Given the description of an element on the screen output the (x, y) to click on. 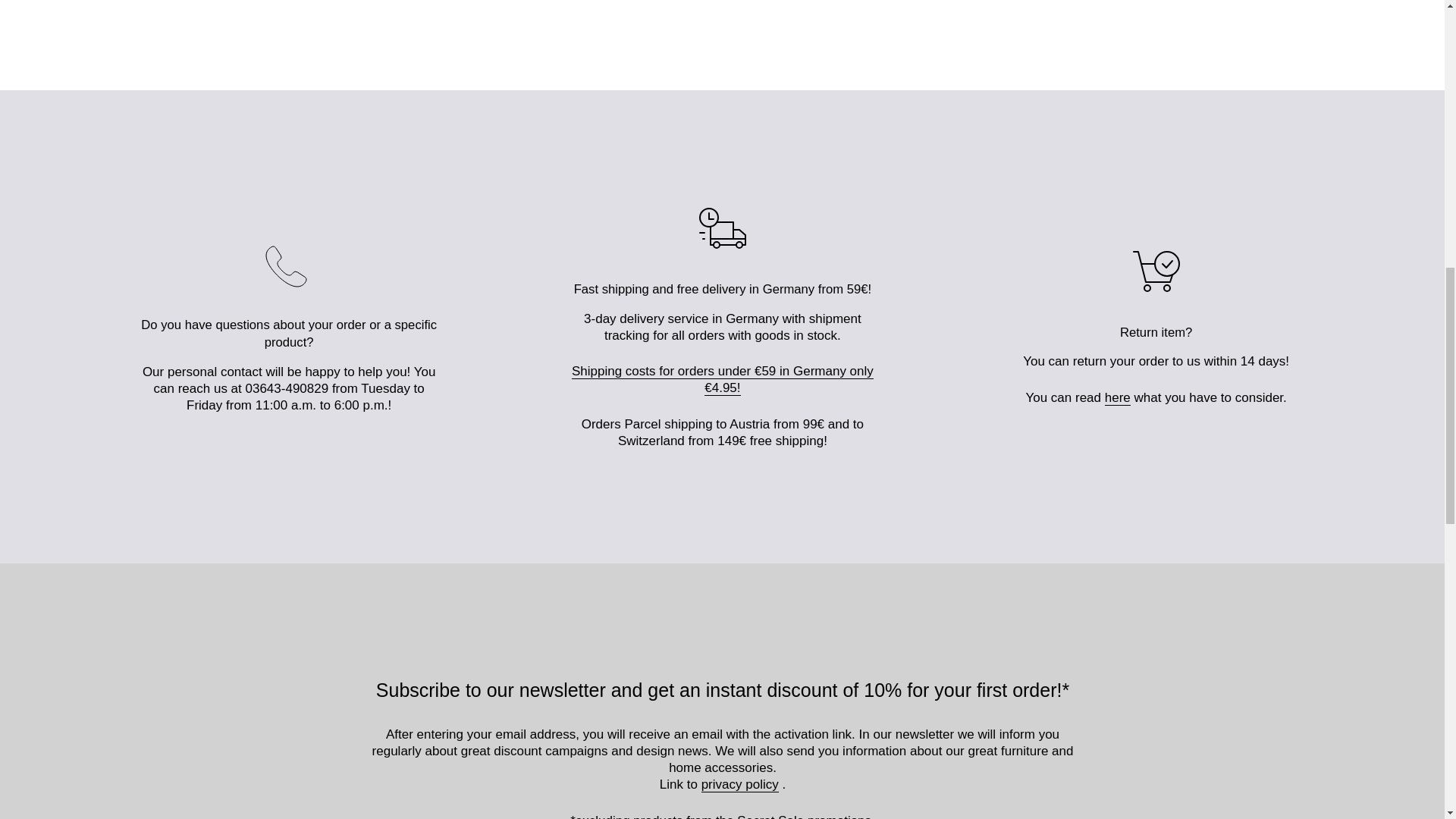
refund policy (1118, 397)
Shipping Policy (722, 379)
Privacy Policy (739, 784)
